Given the description of an element on the screen output the (x, y) to click on. 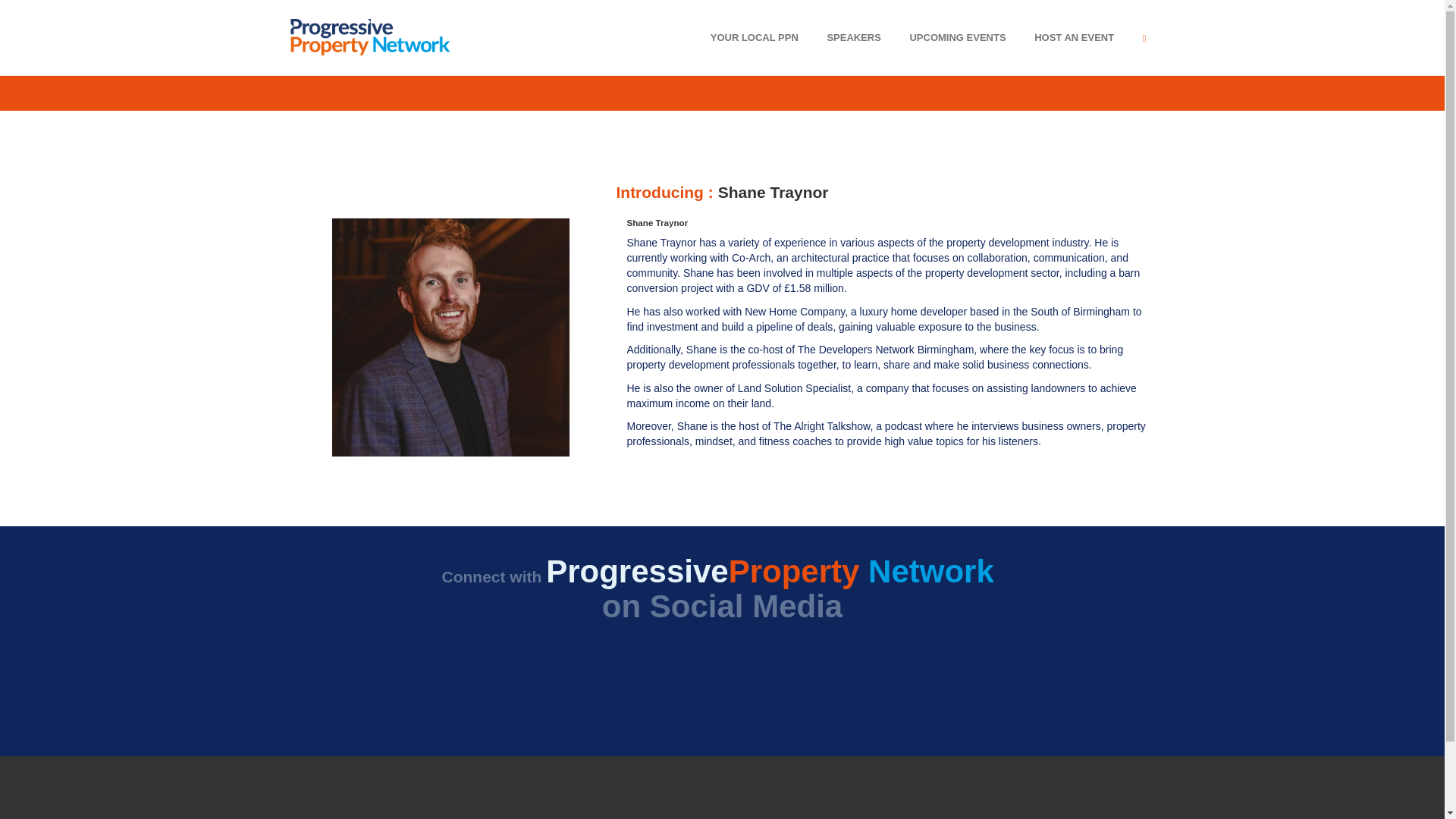
HOST AN EVENT (1074, 37)
SPEAKERS (853, 37)
Progressive Property Network (368, 37)
UPCOMING EVENTS (957, 37)
OPEN SEARCH FORM (1144, 37)
YOUR LOCAL PPN (753, 37)
